Given the description of an element on the screen output the (x, y) to click on. 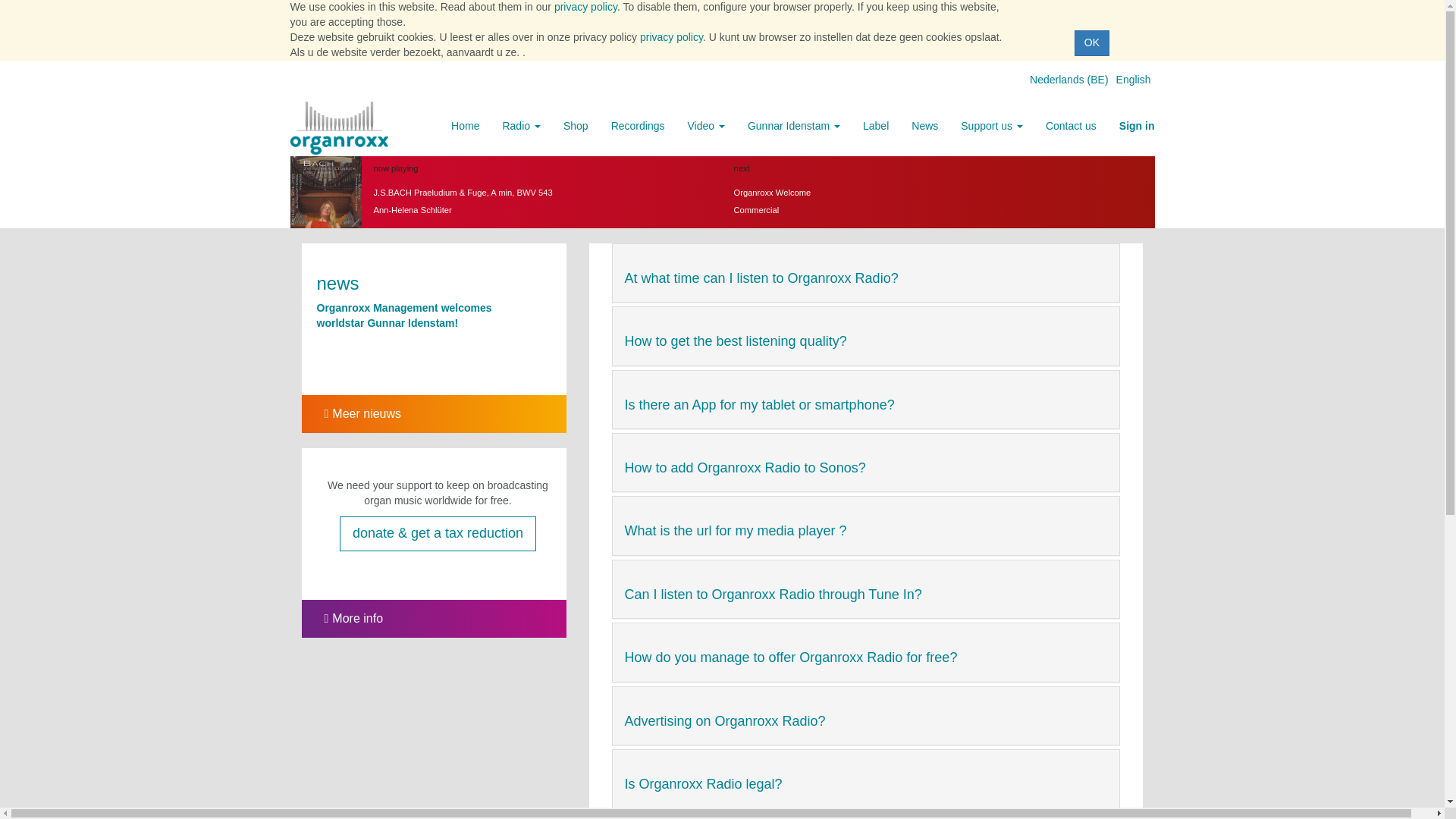
Organroxx Management welcomes worldstar Gunnar Idenstam! (404, 315)
Contact us (1070, 125)
Radio (520, 125)
Organroxx BV (338, 127)
Recordings (638, 125)
English (1133, 79)
Gunnar Idenstam (793, 125)
Support us (991, 125)
Meer nieuws (351, 413)
privacy policy (585, 6)
privacy policy (671, 37)
Video (705, 125)
Sign in (1137, 125)
OK (1091, 43)
More info (342, 617)
